Given the description of an element on the screen output the (x, y) to click on. 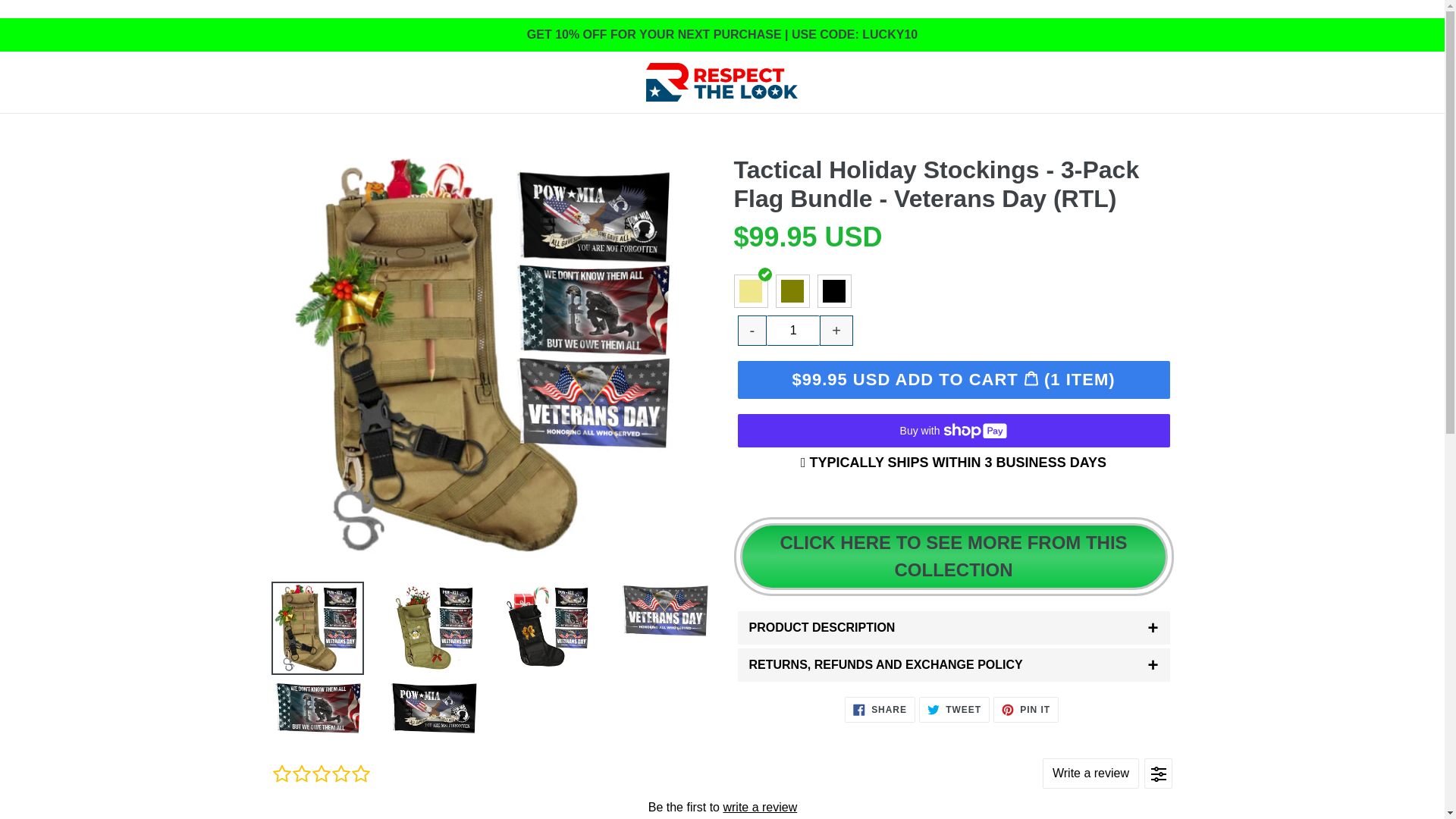
Product reviews widget (721, 780)
1 (793, 330)
